Given the description of an element on the screen output the (x, y) to click on. 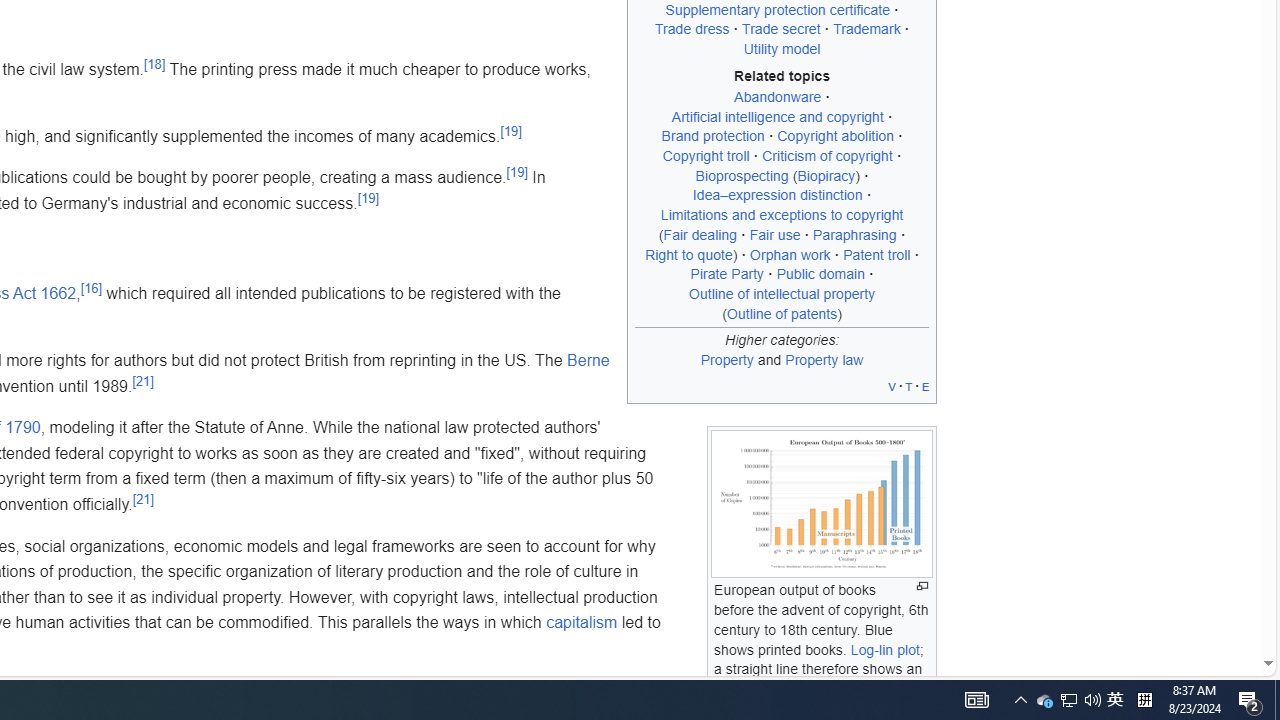
Brand protection (712, 136)
Utility model (781, 49)
[21] (142, 498)
t (908, 385)
Log-lin plot (884, 649)
v (892, 385)
Right to quote) (691, 254)
Copyright abolition (835, 136)
Supplementary protection certificate (777, 9)
(Biopiracy) (826, 175)
Bioprospecting (741, 175)
